Given the description of an element on the screen output the (x, y) to click on. 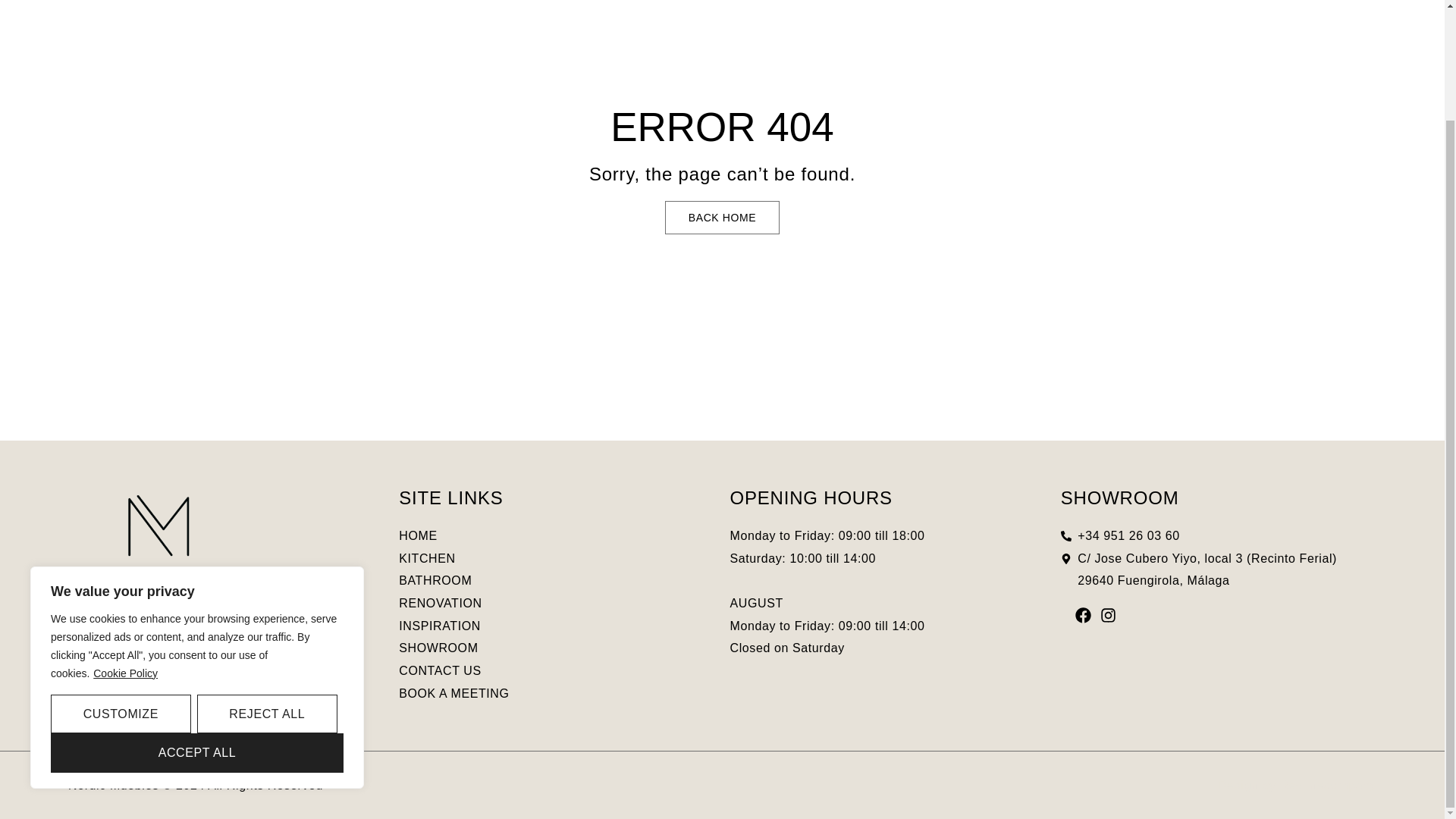
CUSTOMIZE (120, 584)
ACCEPT ALL (196, 622)
Cookie Policy (125, 543)
REJECT ALL (266, 584)
